Given the description of an element on the screen output the (x, y) to click on. 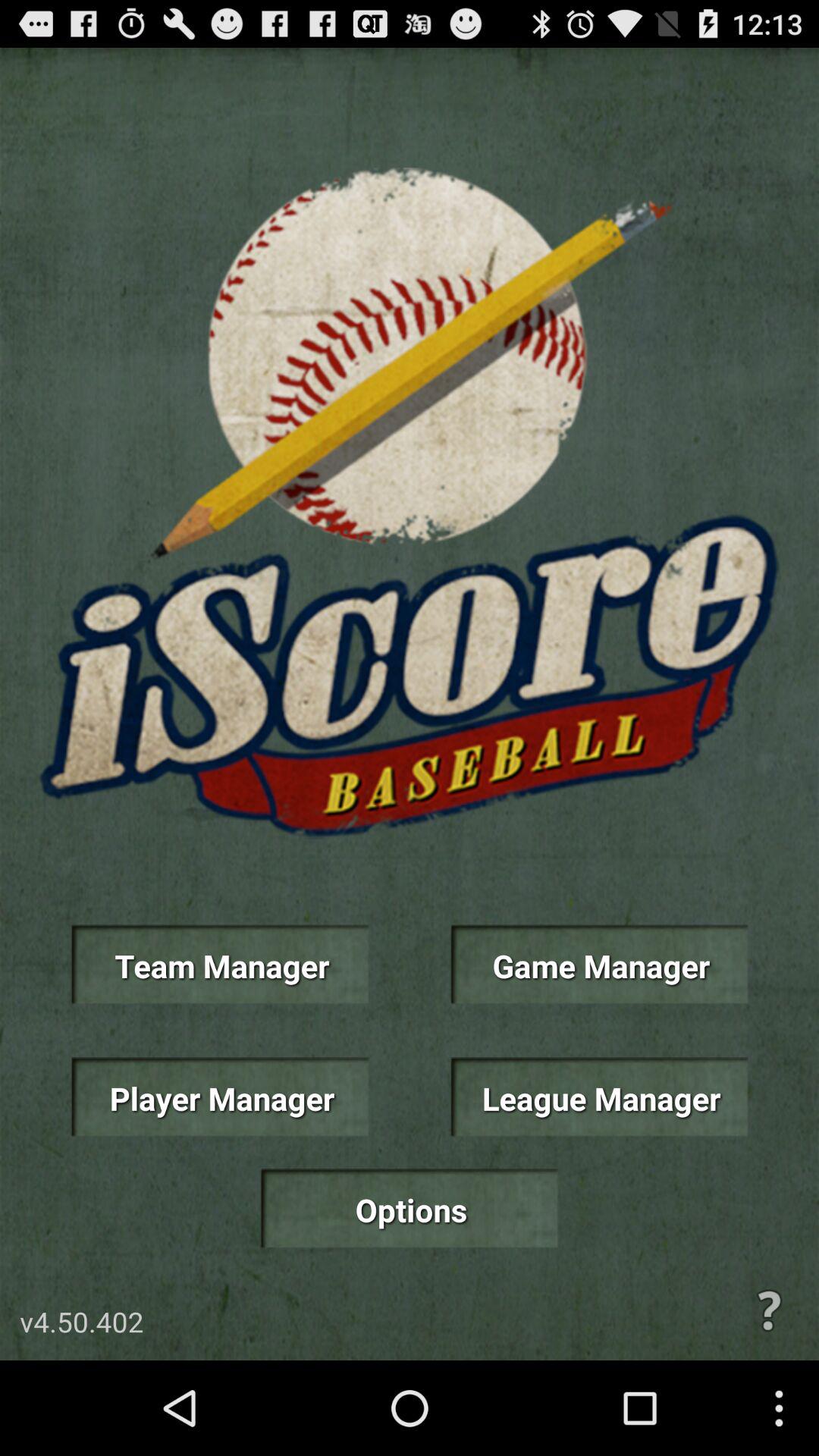
turn off the player manager icon (219, 1096)
